Given the description of an element on the screen output the (x, y) to click on. 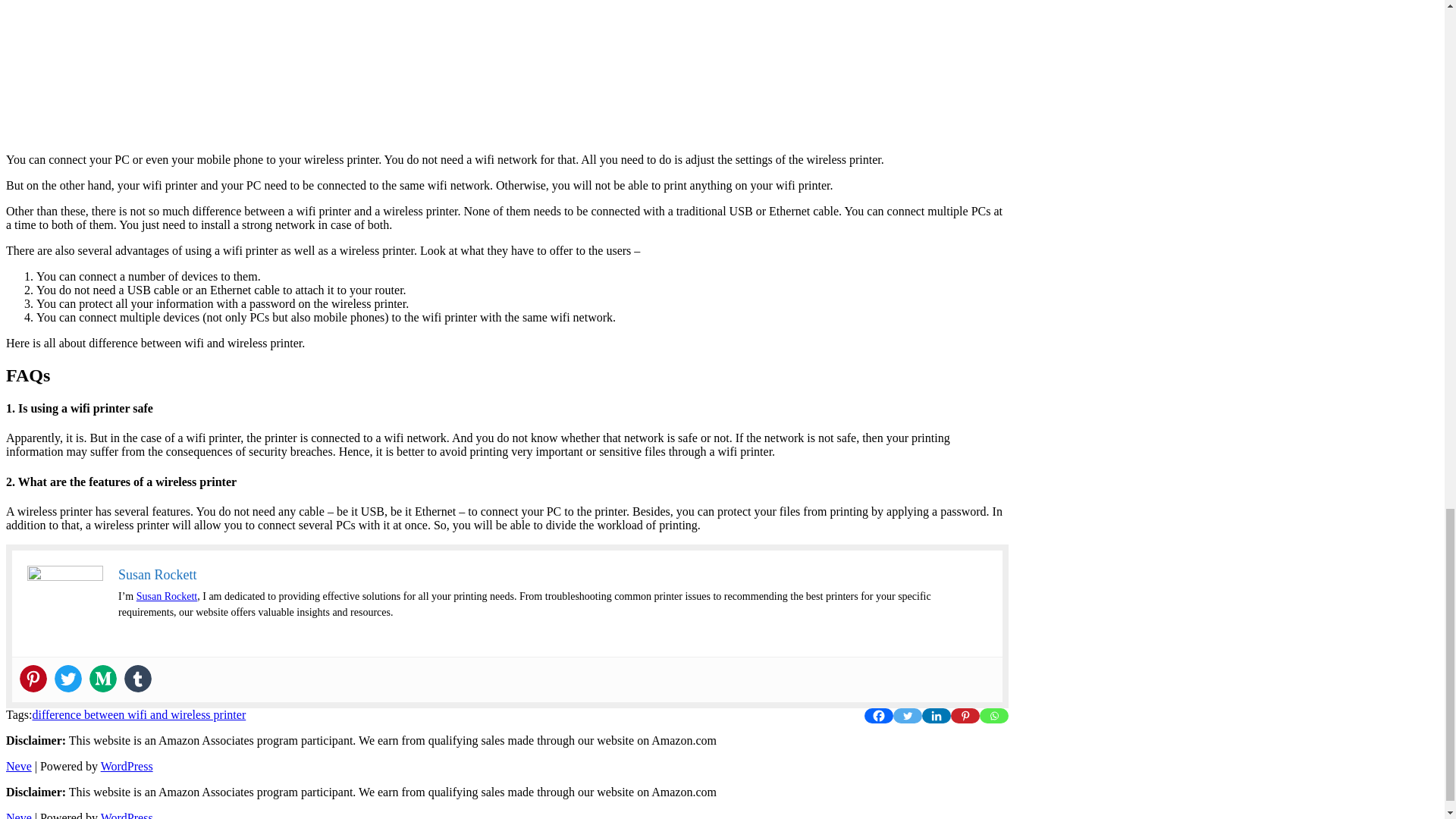
Facebook (878, 715)
Linkedin (935, 715)
Susan Rockett (156, 574)
Whatsapp (994, 715)
Tumblr (137, 678)
Twitter (68, 678)
Susan Rockett (167, 595)
Twitter (907, 715)
Medium (102, 678)
difference between wifi and wireless printer (139, 714)
